Given the description of an element on the screen output the (x, y) to click on. 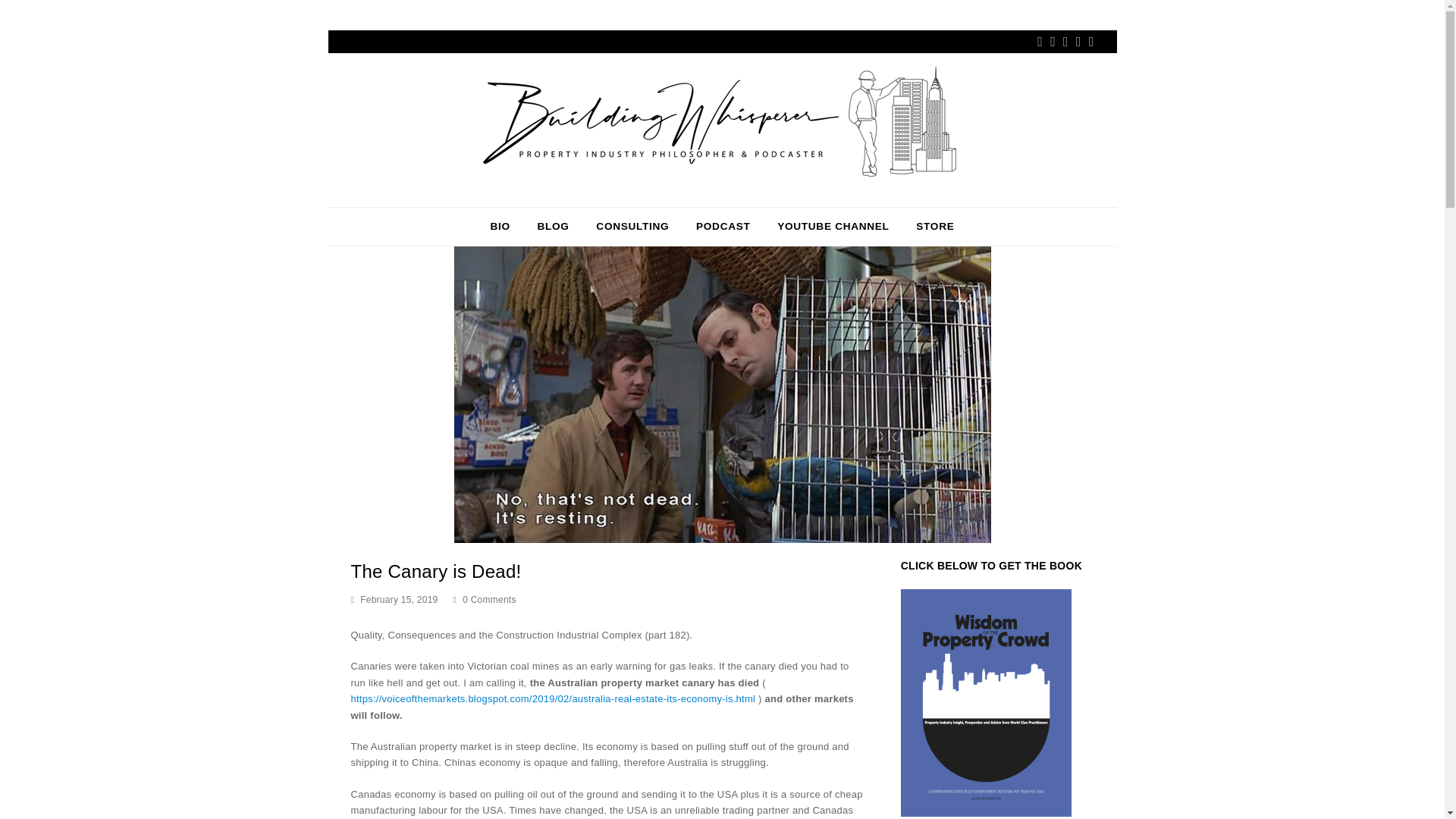
CONSULTING (632, 226)
BLOG (552, 226)
0 Comments (484, 600)
0 Comments (489, 599)
PODCAST (722, 226)
BIO (500, 226)
YOUTUBE CHANNEL (833, 226)
STORE (935, 226)
